Given the description of an element on the screen output the (x, y) to click on. 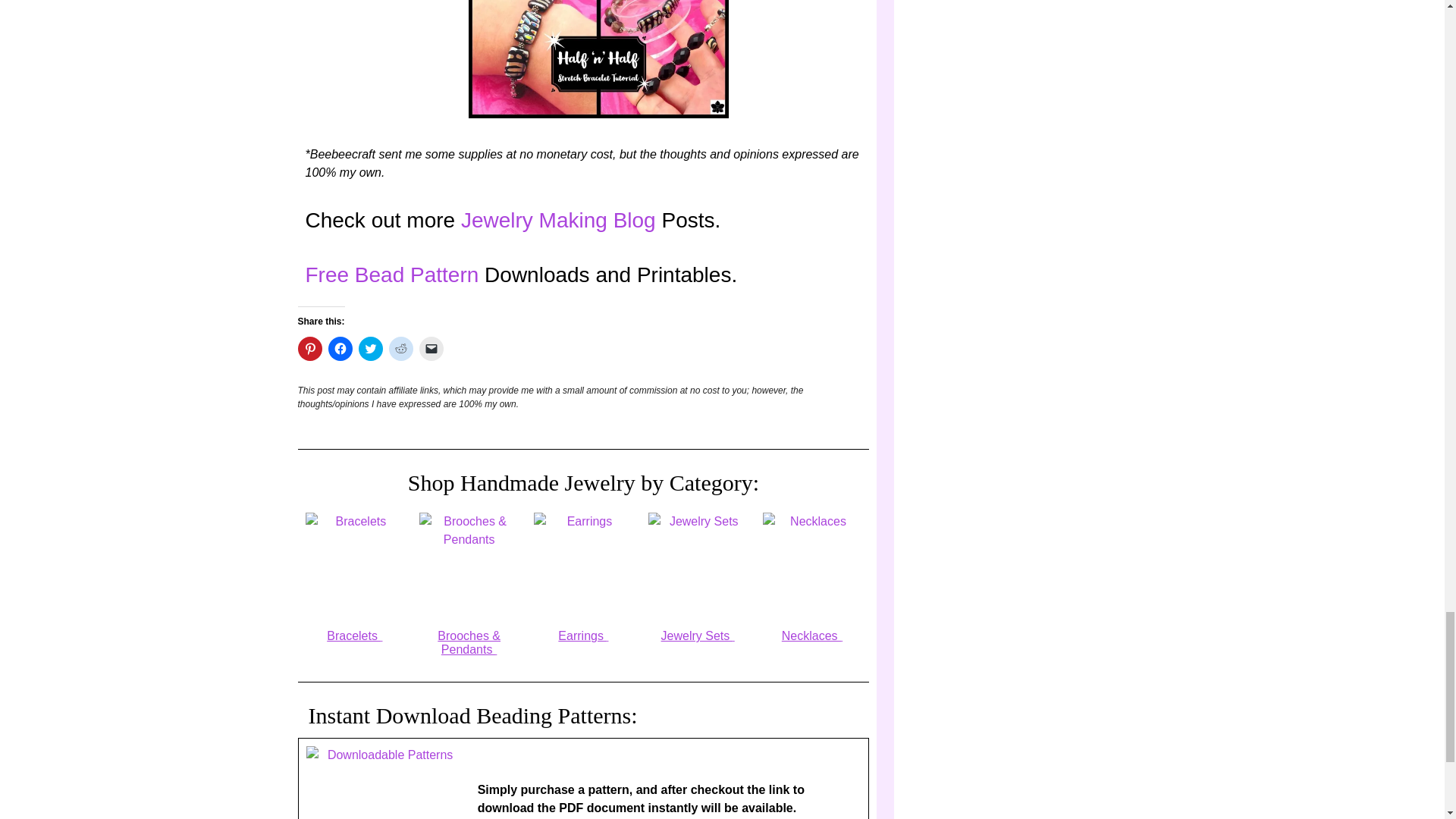
Click to email a link to a friend (430, 348)
Click to share on Facebook (339, 348)
Click to share on Twitter (369, 348)
Click to share on Pinterest (309, 348)
Click to share on Reddit (400, 348)
